Given the description of an element on the screen output the (x, y) to click on. 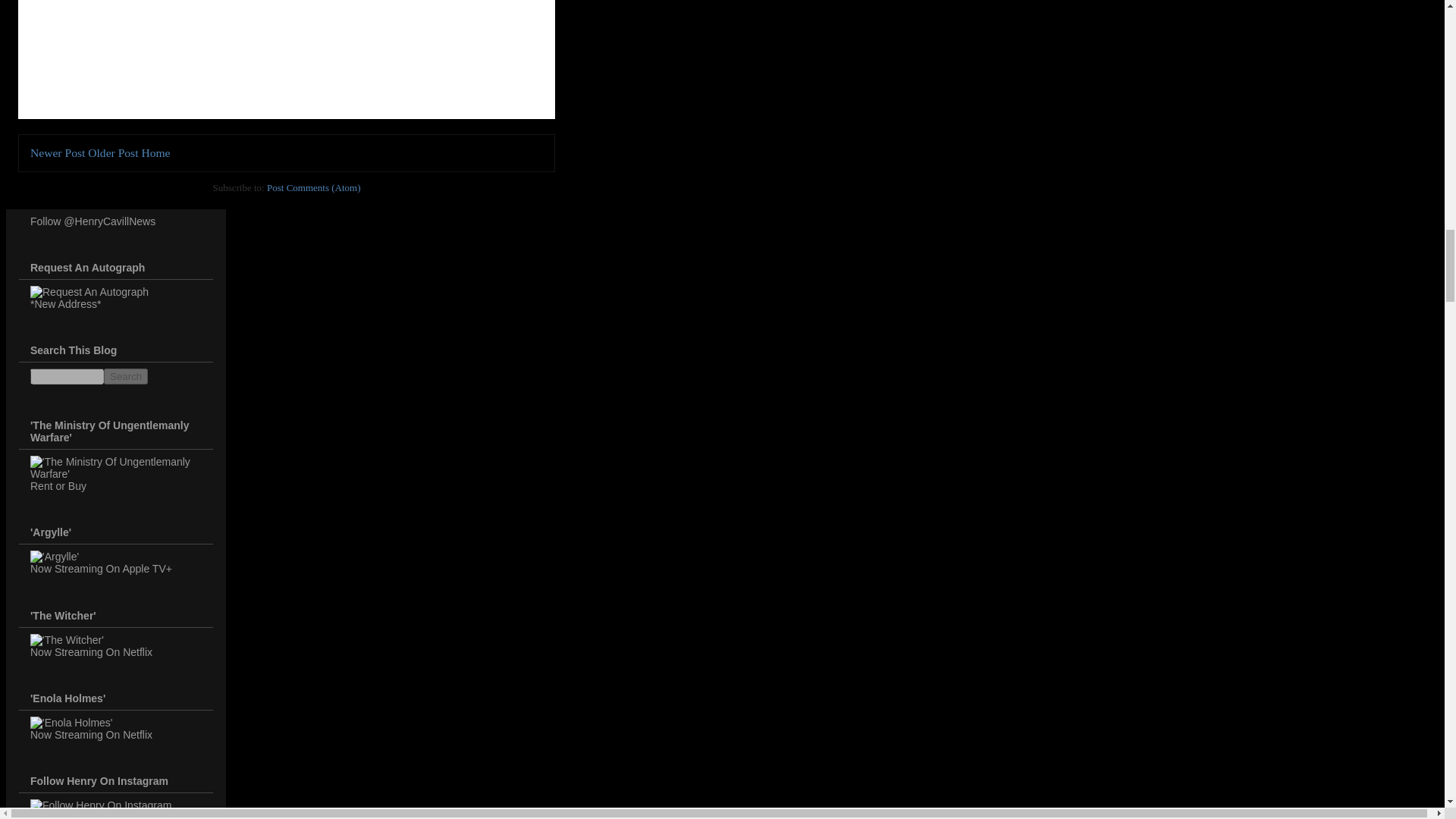
Newer Post (57, 152)
Newer Post (57, 152)
Home (155, 152)
Search (125, 376)
Older Post (112, 152)
Search (125, 376)
Older Post (112, 152)
search (125, 376)
search (66, 376)
